Given the description of an element on the screen output the (x, y) to click on. 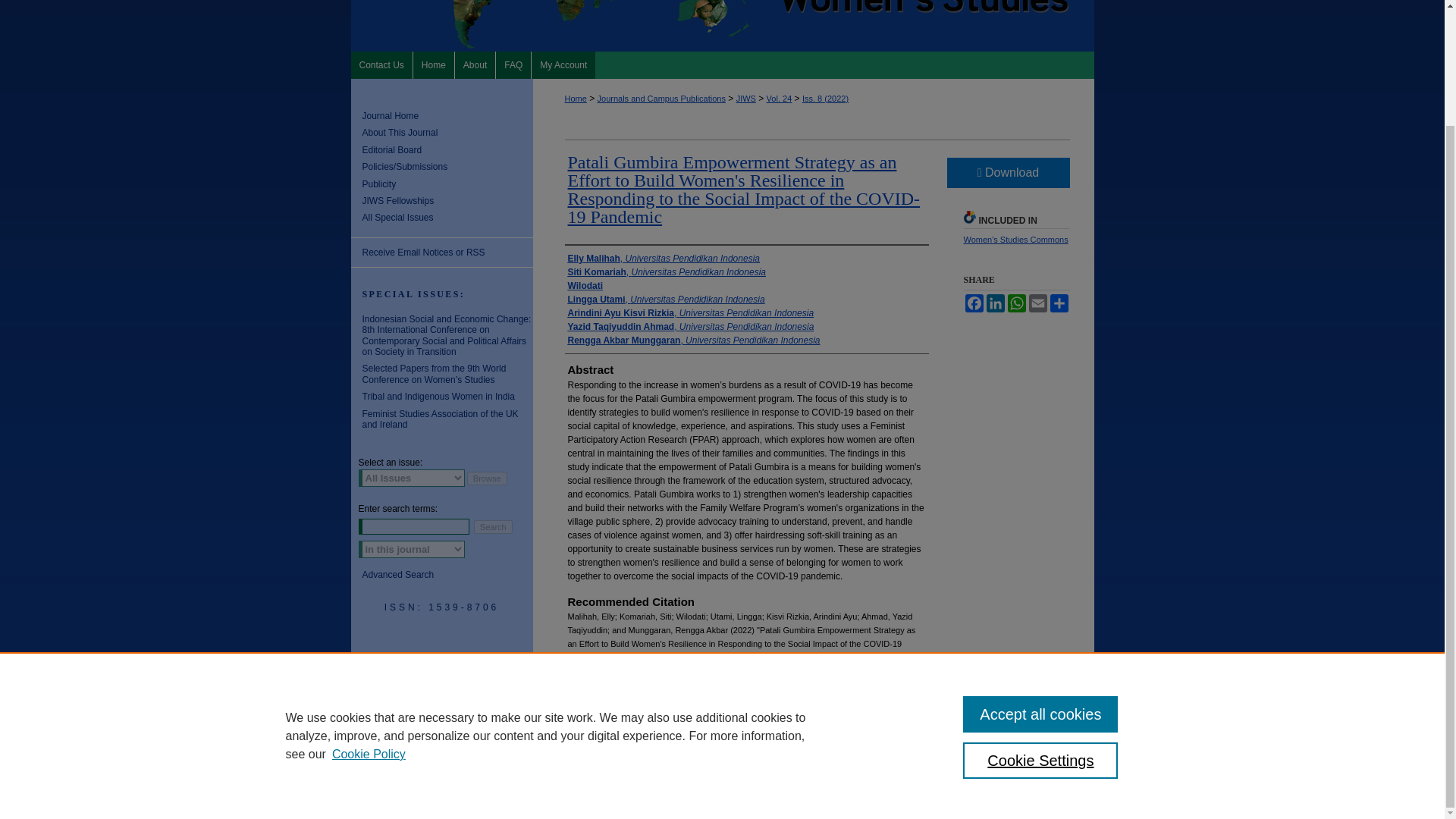
Wilodati (584, 285)
FAQ (513, 64)
Home (433, 64)
Journal of International Women's Studies (721, 25)
Lingga Utami, Universitas Pendidikan Indonesia (665, 299)
Journal of International Women's Studies Policies (447, 166)
Journal of International Women's Studies (721, 25)
Editorial Board (447, 149)
Rengga Akbar Munggaran, Universitas Pendidikan Indonesia (693, 340)
My Account (563, 64)
WhatsApp (1016, 303)
Home (433, 64)
Contact Us (381, 64)
About (475, 64)
